Given the description of an element on the screen output the (x, y) to click on. 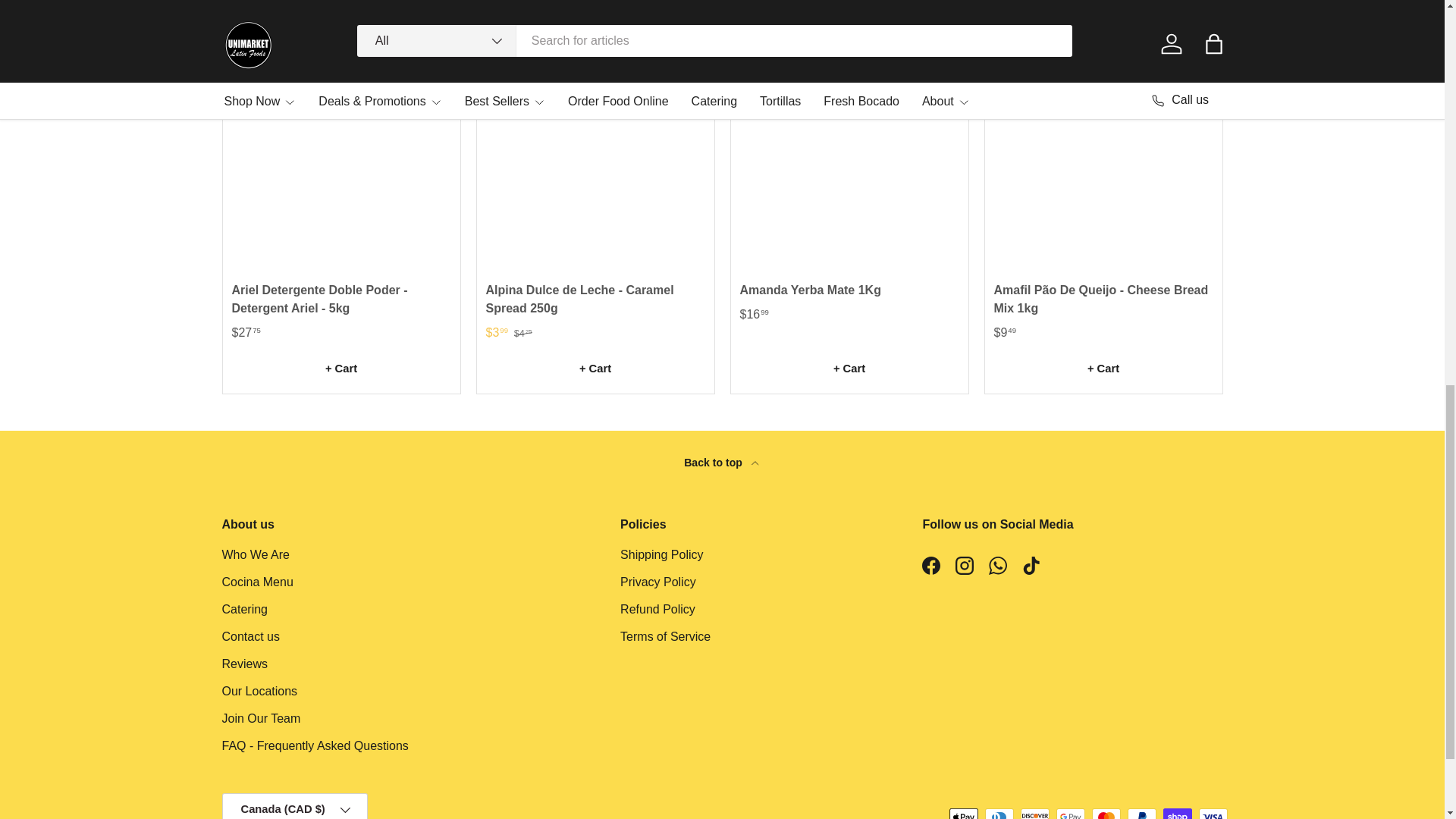
Unimarket on TikTok (1031, 565)
Unimarket on WhatsApp (997, 565)
Unimarket on Instagram (964, 565)
Unimarket on Facebook (930, 565)
